Given the description of an element on the screen output the (x, y) to click on. 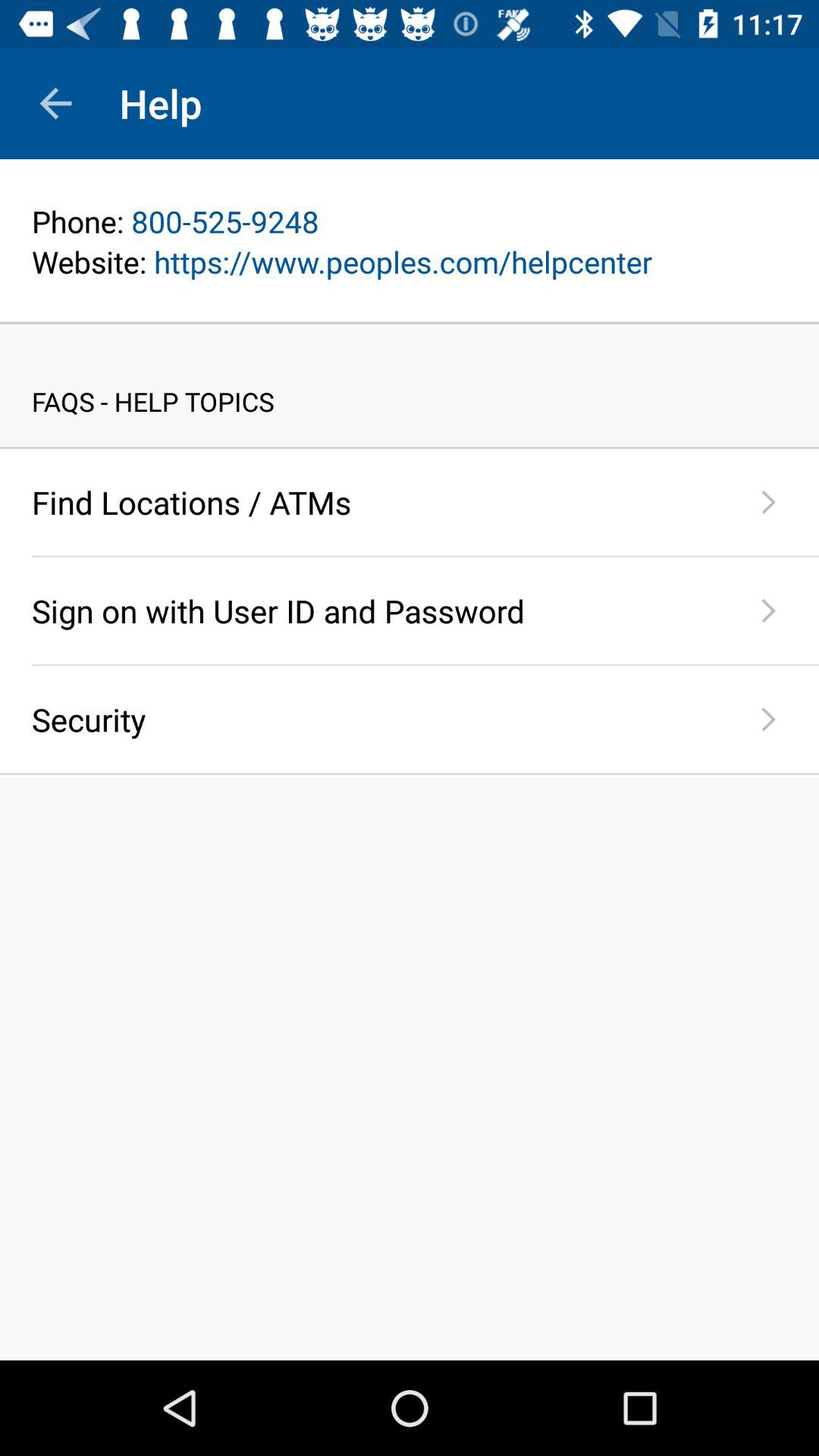
tap the website https www (409, 261)
